Given the description of an element on the screen output the (x, y) to click on. 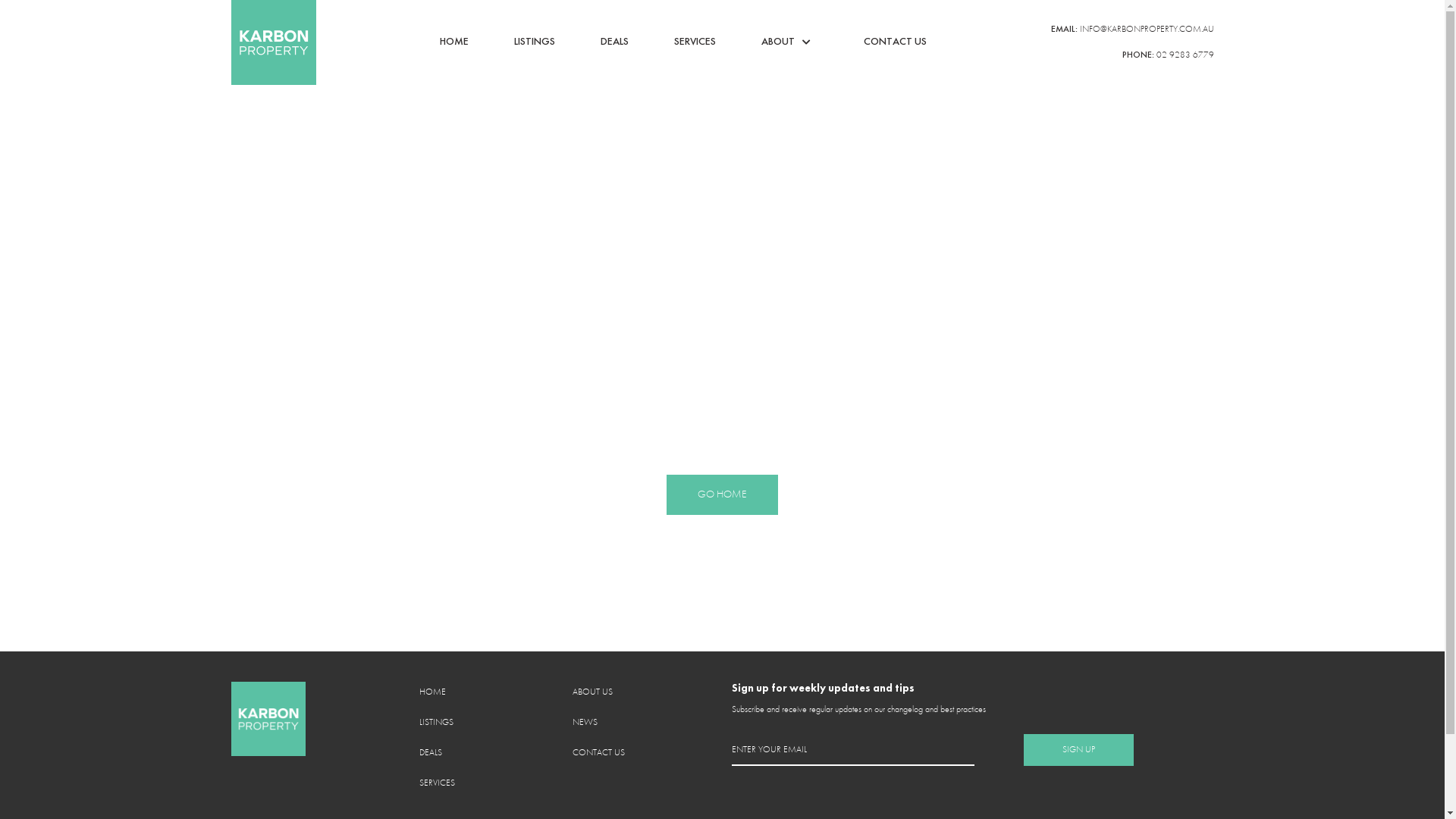
ABOUT US Element type: text (591, 692)
DEALS Element type: text (614, 42)
HOME Element type: text (431, 692)
NEWS Element type: text (583, 722)
INFO@KARBONPROPERTY.COM.AU Element type: text (1146, 29)
02 9283 6779 Element type: text (1184, 55)
Sign up Element type: text (1078, 749)
CONTACT US Element type: text (597, 752)
CONTACT US Element type: text (894, 42)
SERVICES Element type: text (694, 42)
DEALS Element type: text (429, 752)
LISTINGS Element type: text (435, 722)
LISTINGS Element type: text (534, 42)
ABOUT Element type: text (777, 42)
GO HOME Element type: text (722, 494)
SERVICES Element type: text (436, 783)
HOME Element type: text (453, 42)
